Given the description of an element on the screen output the (x, y) to click on. 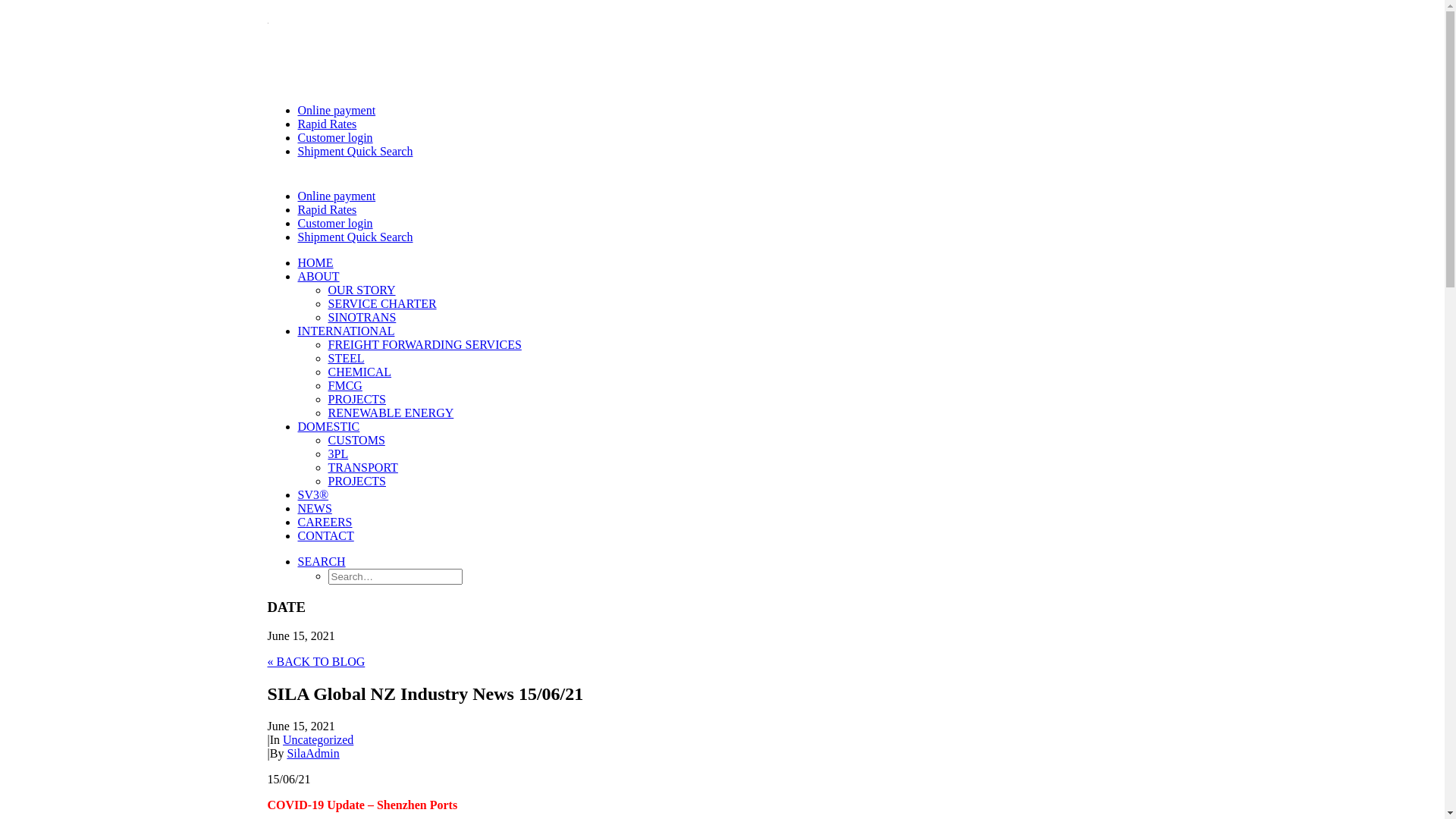
3PL Element type: text (337, 453)
ABOUT Element type: text (317, 275)
SINOTRANS Element type: text (361, 316)
Shipment Quick Search Element type: text (354, 236)
INTERNATIONAL Element type: text (345, 330)
OUR STORY Element type: text (361, 289)
RENEWABLE ENERGY Element type: text (390, 412)
STEEL Element type: text (345, 357)
CUSTOMS Element type: text (355, 439)
FMCG Element type: text (344, 385)
HOME Element type: text (314, 262)
Customer login Element type: text (334, 222)
Online payment Element type: text (336, 195)
PROJECTS Element type: text (356, 480)
TRANSPORT Element type: text (362, 467)
NEWS Element type: text (314, 508)
CHEMICAL Element type: text (359, 371)
CAREERS Element type: text (324, 521)
Rapid Rates Element type: text (326, 209)
Rapid Rates Element type: text (326, 123)
SilaAdmin Element type: text (312, 752)
Customer login Element type: text (334, 137)
PROJECTS Element type: text (356, 398)
Shipment Quick Search Element type: text (354, 150)
FREIGHT FORWARDING SERVICES Element type: text (423, 344)
DOMESTIC Element type: text (328, 426)
Uncategorized Element type: text (317, 739)
Online payment Element type: text (336, 109)
SEARCH Element type: text (321, 561)
Search for: Element type: hover (394, 576)
CONTACT Element type: text (325, 535)
SERVICE CHARTER Element type: text (381, 303)
